Given the description of an element on the screen output the (x, y) to click on. 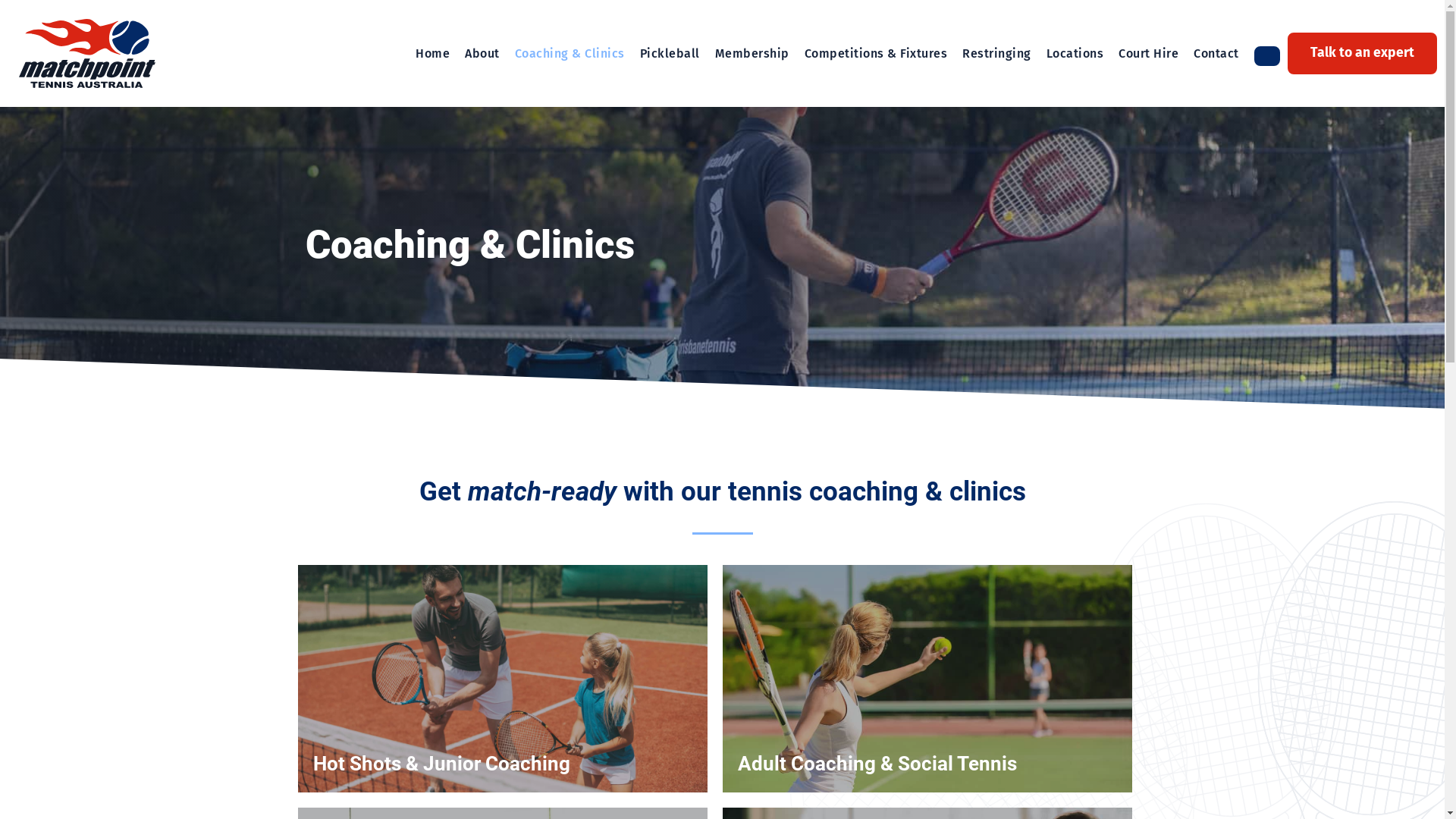
Restringing Element type: text (996, 53)
About Element type: text (482, 53)
Membership Element type: text (752, 53)
Home Element type: text (432, 53)
Contact Element type: text (1216, 53)
Competitions & Fixtures Element type: text (876, 53)
Court Hire Element type: text (1148, 53)
Adult Coaching & Social Tennis Element type: text (876, 763)
Coaching & Clinics Element type: text (569, 53)
Locations Element type: text (1074, 53)
Pickleball Element type: text (669, 53)
Hot Shots & Junior Coaching Element type: text (440, 763)
Talk to an expert Element type: text (1362, 53)
